Given the description of an element on the screen output the (x, y) to click on. 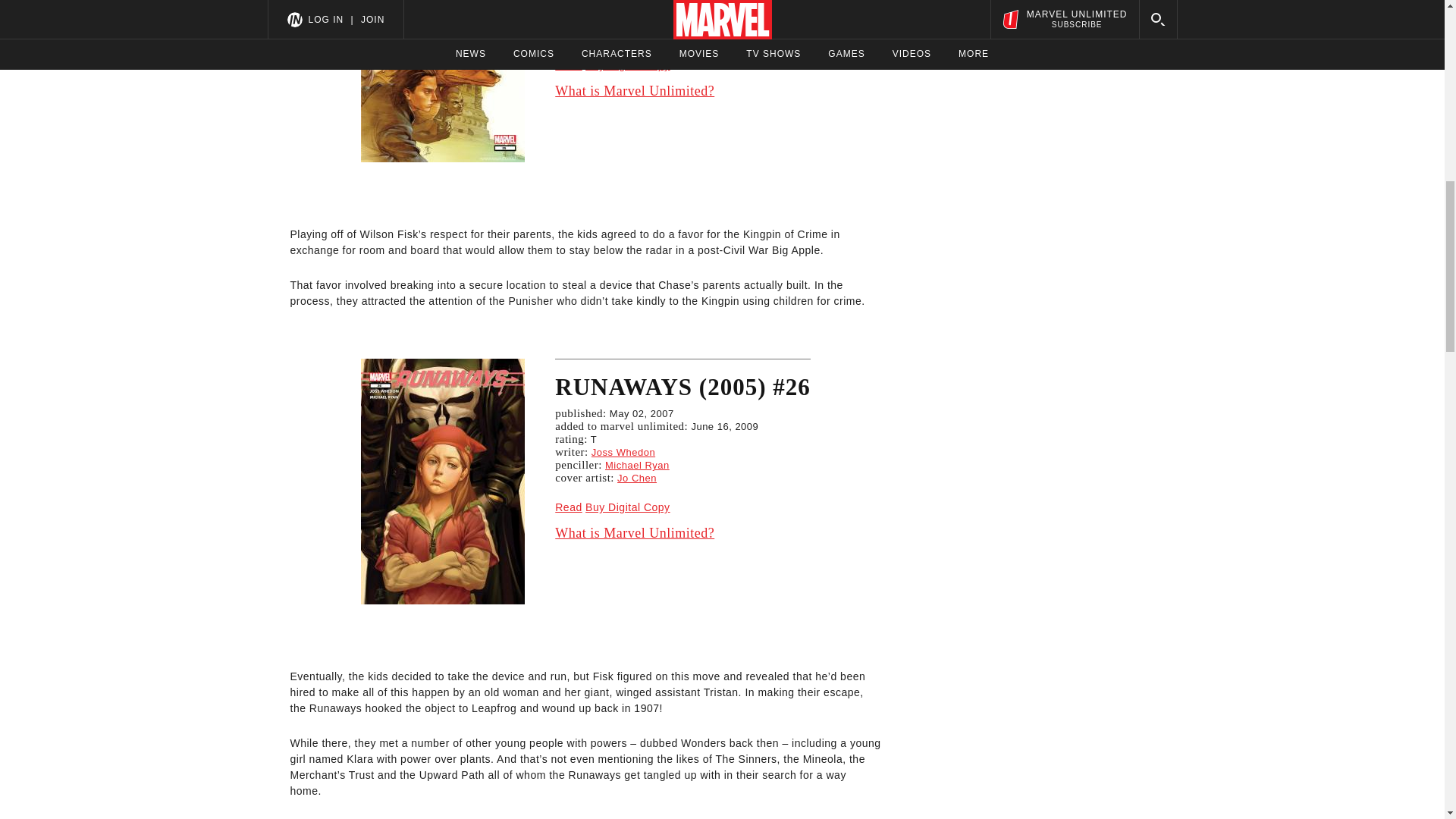
Joss Whedon (623, 9)
Buy Digital Copy (627, 507)
Jo Chen (636, 35)
Read (567, 507)
What is Marvel Unlimited? (682, 90)
Michael Ryan (637, 22)
Jo Chen (636, 478)
Michael Ryan (637, 464)
Joss Whedon (623, 451)
Read (567, 64)
What is Marvel Unlimited? (682, 533)
Buy Digital Copy (627, 64)
